Given the description of an element on the screen output the (x, y) to click on. 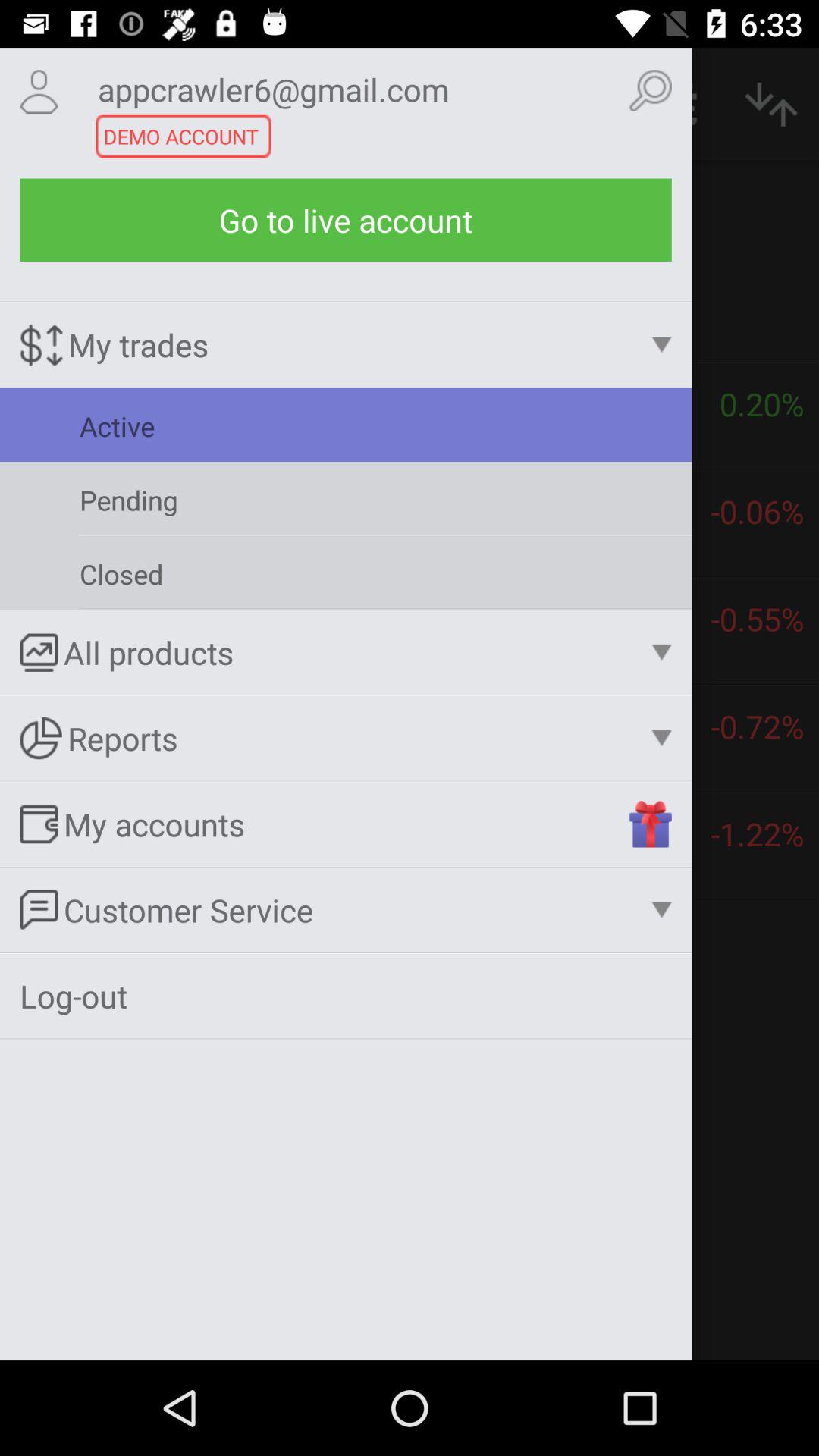
click on demo account which is above go to live account (345, 572)
